Given the description of an element on the screen output the (x, y) to click on. 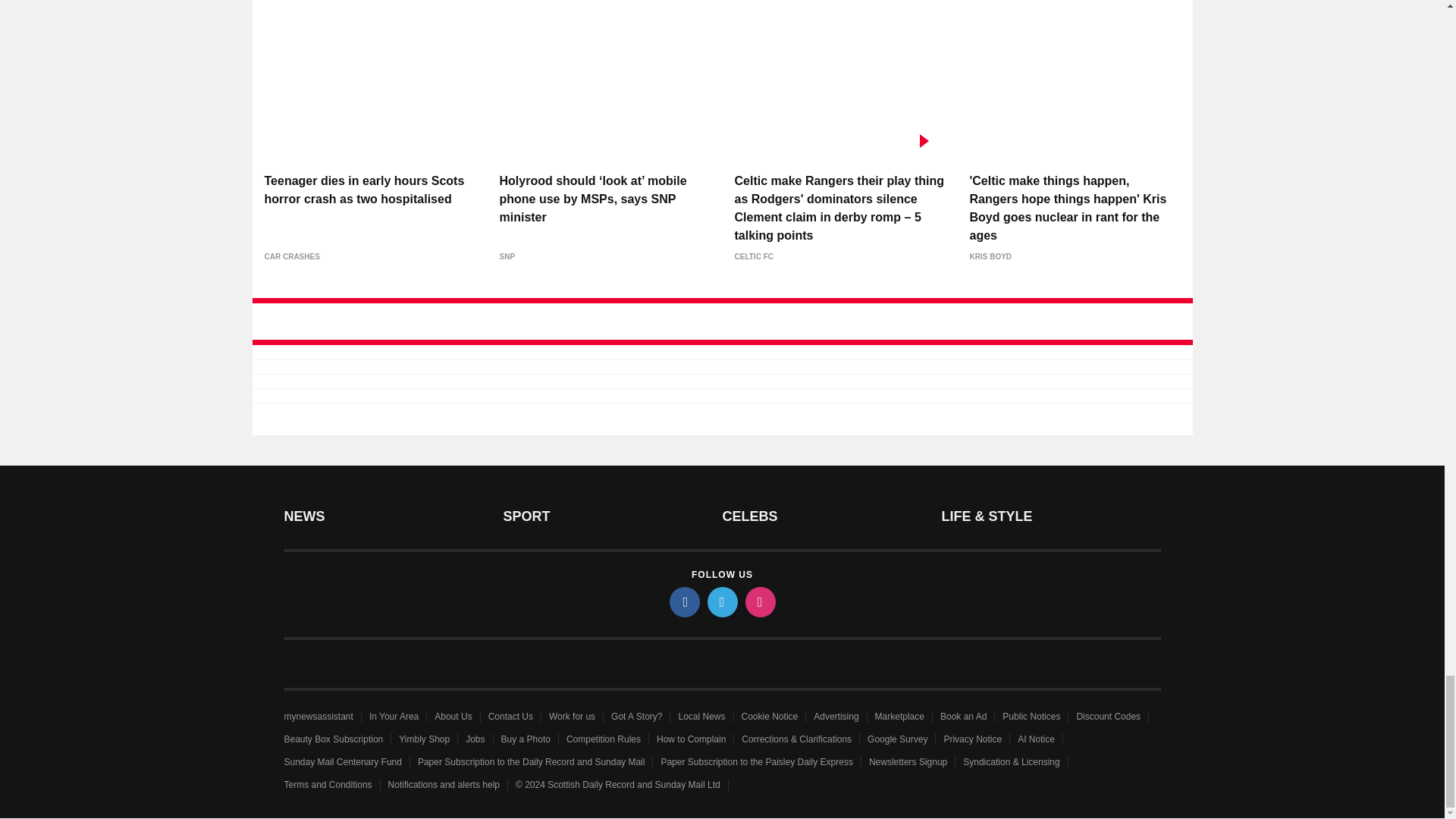
twitter (721, 602)
facebook (683, 602)
instagram (759, 602)
